Given the description of an element on the screen output the (x, y) to click on. 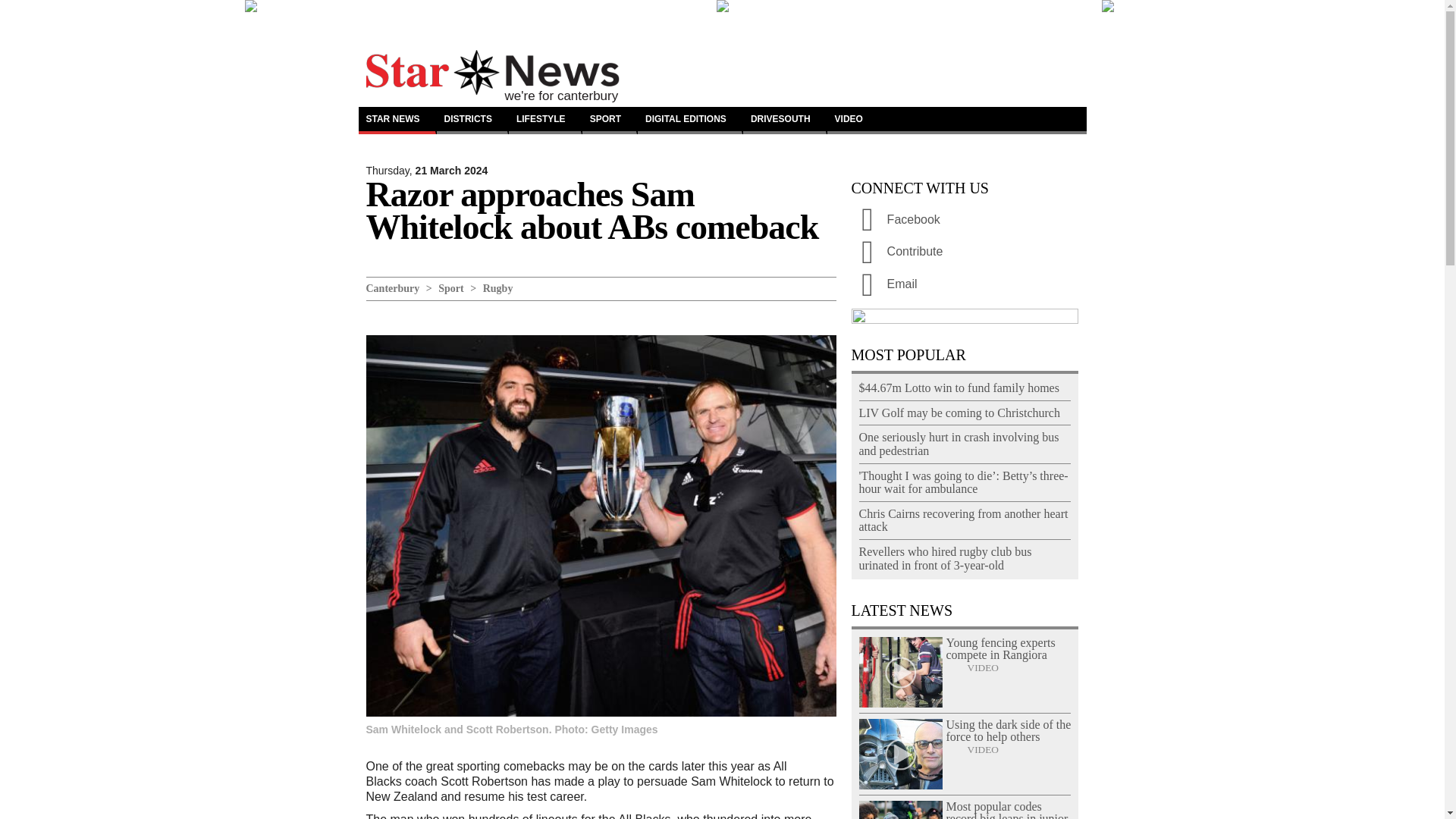
DISTRICTS (472, 120)
LIFESTYLE (544, 120)
STAR NEWS (396, 120)
Home (491, 57)
SPORT (609, 120)
